Given the description of an element on the screen output the (x, y) to click on. 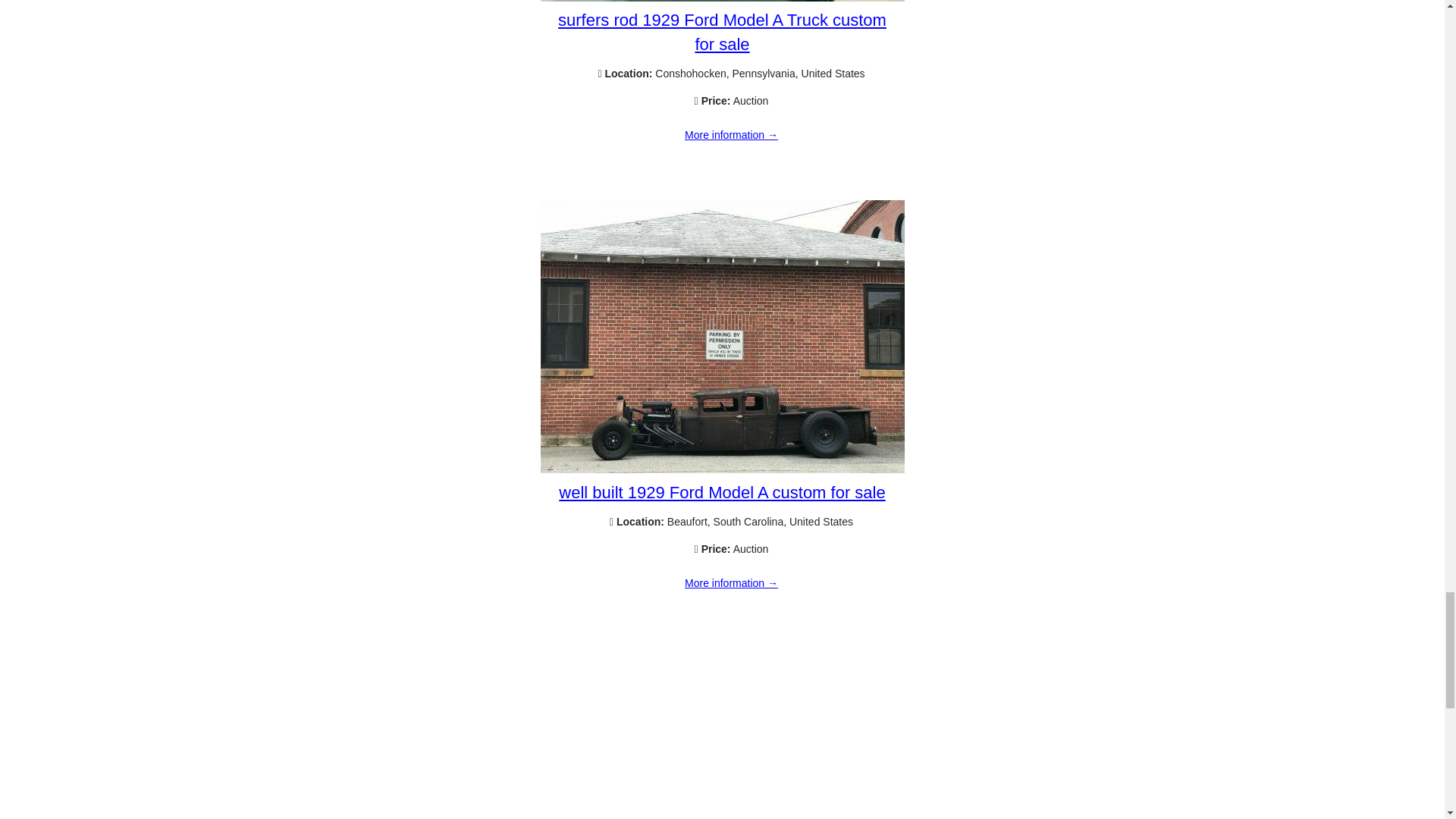
surfers rod 1929 Ford Model A Truck custom for sale (722, 2)
well built 1929 Ford Model A custom for sale (722, 469)
surfers rod 1929 Ford Model A Truck custom for sale (731, 135)
well built 1929 Ford Model A custom for sale (731, 583)
surfers rod 1929 Ford Model A Truck custom for sale (721, 31)
well built 1929 Ford Model A custom for sale (722, 492)
